Given the description of an element on the screen output the (x, y) to click on. 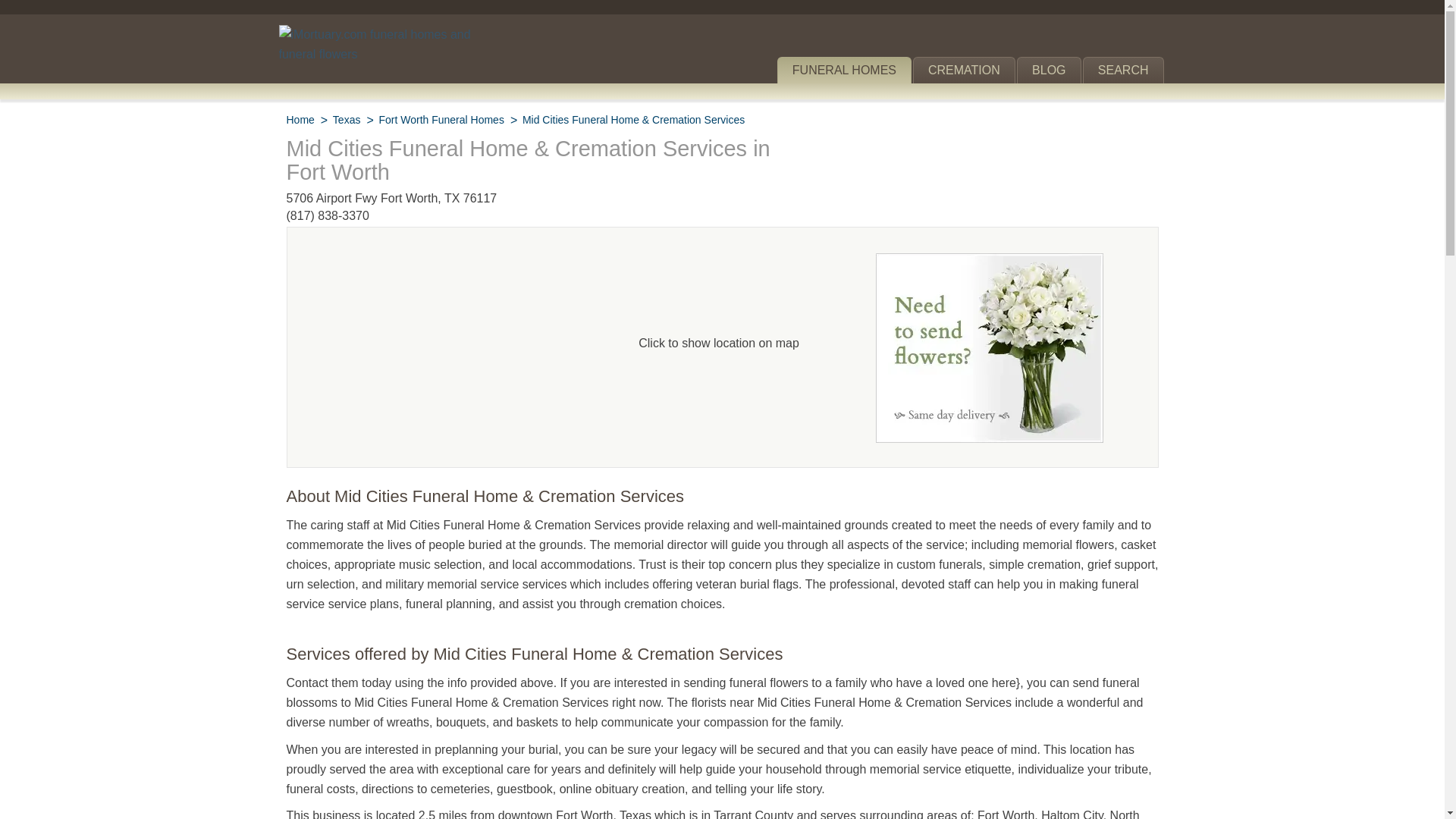
BLOG (1048, 69)
Fort Worth Funeral Homes (440, 119)
Home (300, 119)
CREMATION (963, 69)
SEARCH (1123, 69)
Texas (347, 119)
FUNERAL HOMES (844, 69)
